Given the description of an element on the screen output the (x, y) to click on. 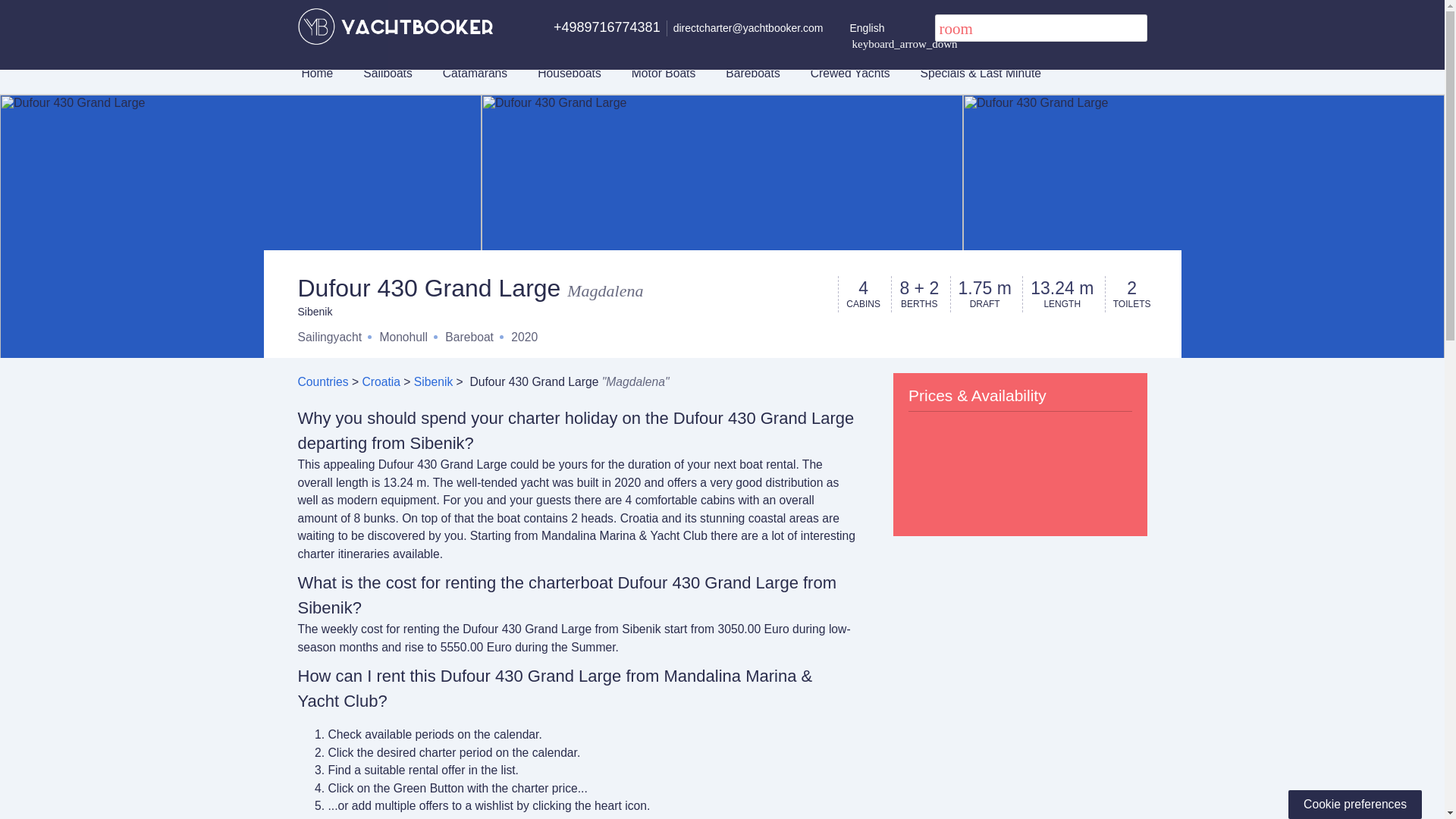
Houseboats (568, 72)
logo on Magdalena page (395, 26)
Crewed Yachts (849, 72)
Motor Boats (663, 72)
Sibenik (432, 381)
Catamarans (475, 72)
Countries (322, 381)
Bareboats (752, 72)
Croatia (380, 381)
Home (317, 72)
Sailboats (386, 72)
